Given the description of an element on the screen output the (x, y) to click on. 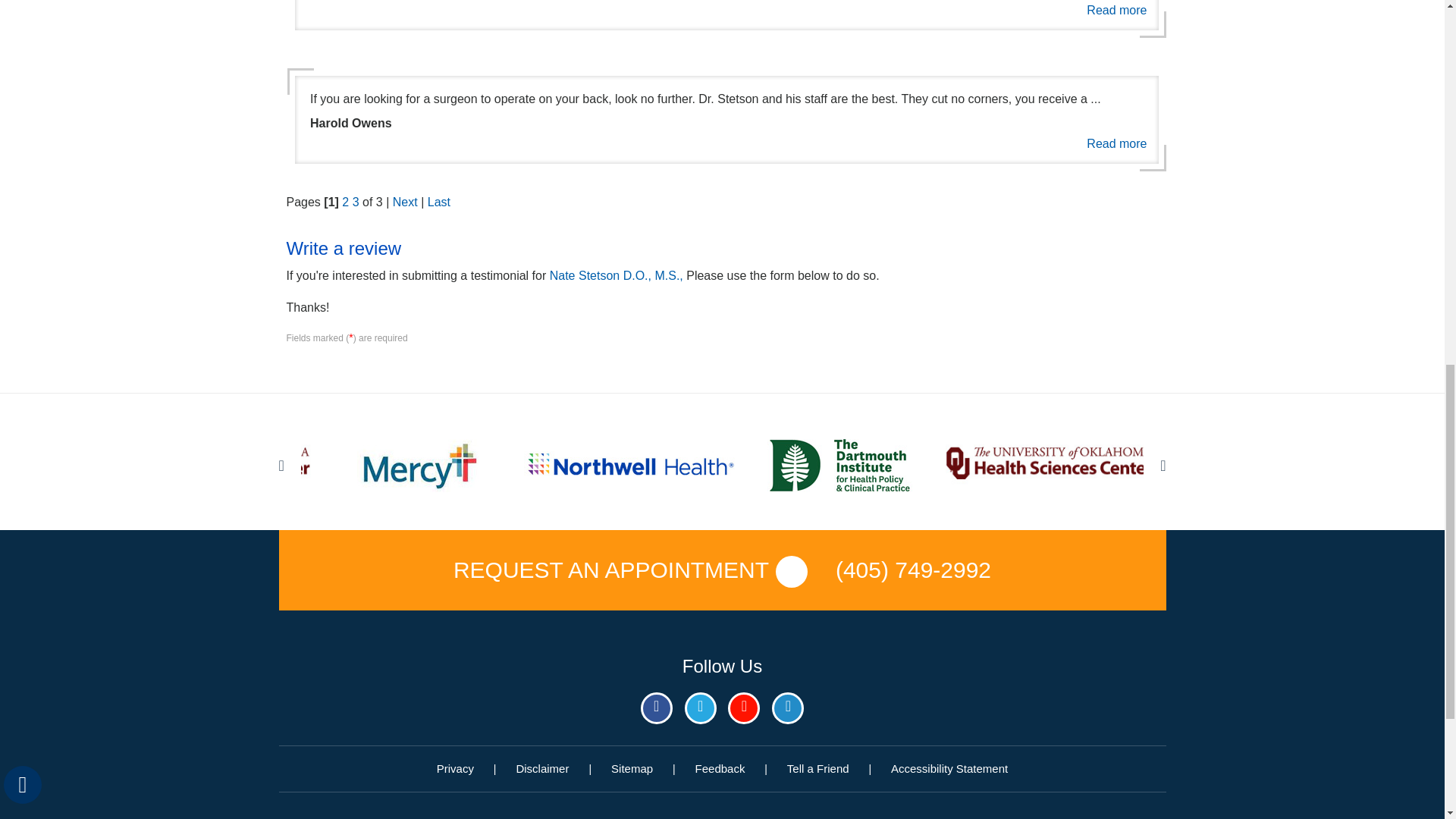
Page 2 (345, 201)
Page 3 (355, 201)
Next Page (405, 201)
Last Page (438, 201)
